Given the description of an element on the screen output the (x, y) to click on. 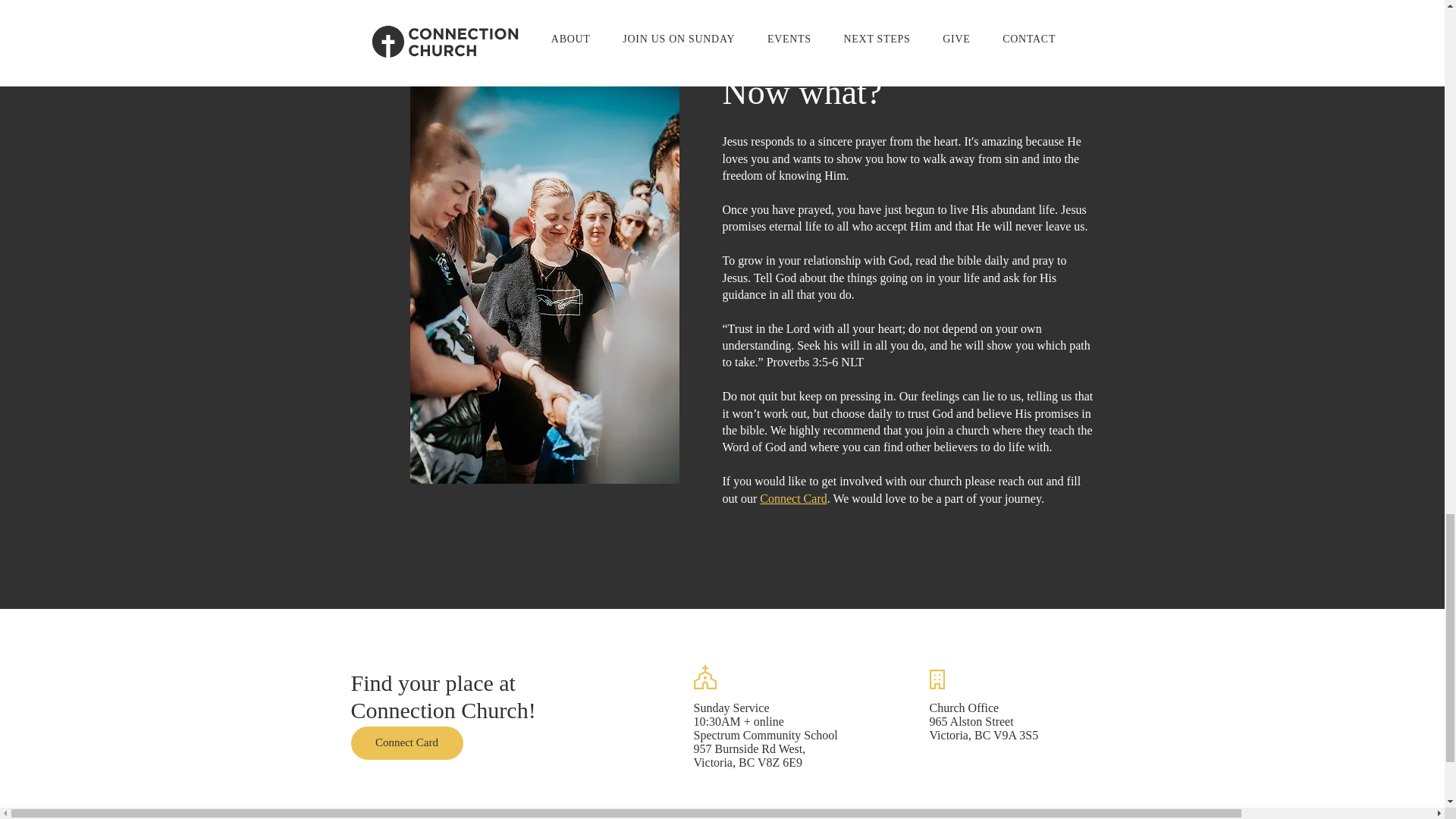
Connect Card (793, 498)
Connect Card (406, 742)
